Given the description of an element on the screen output the (x, y) to click on. 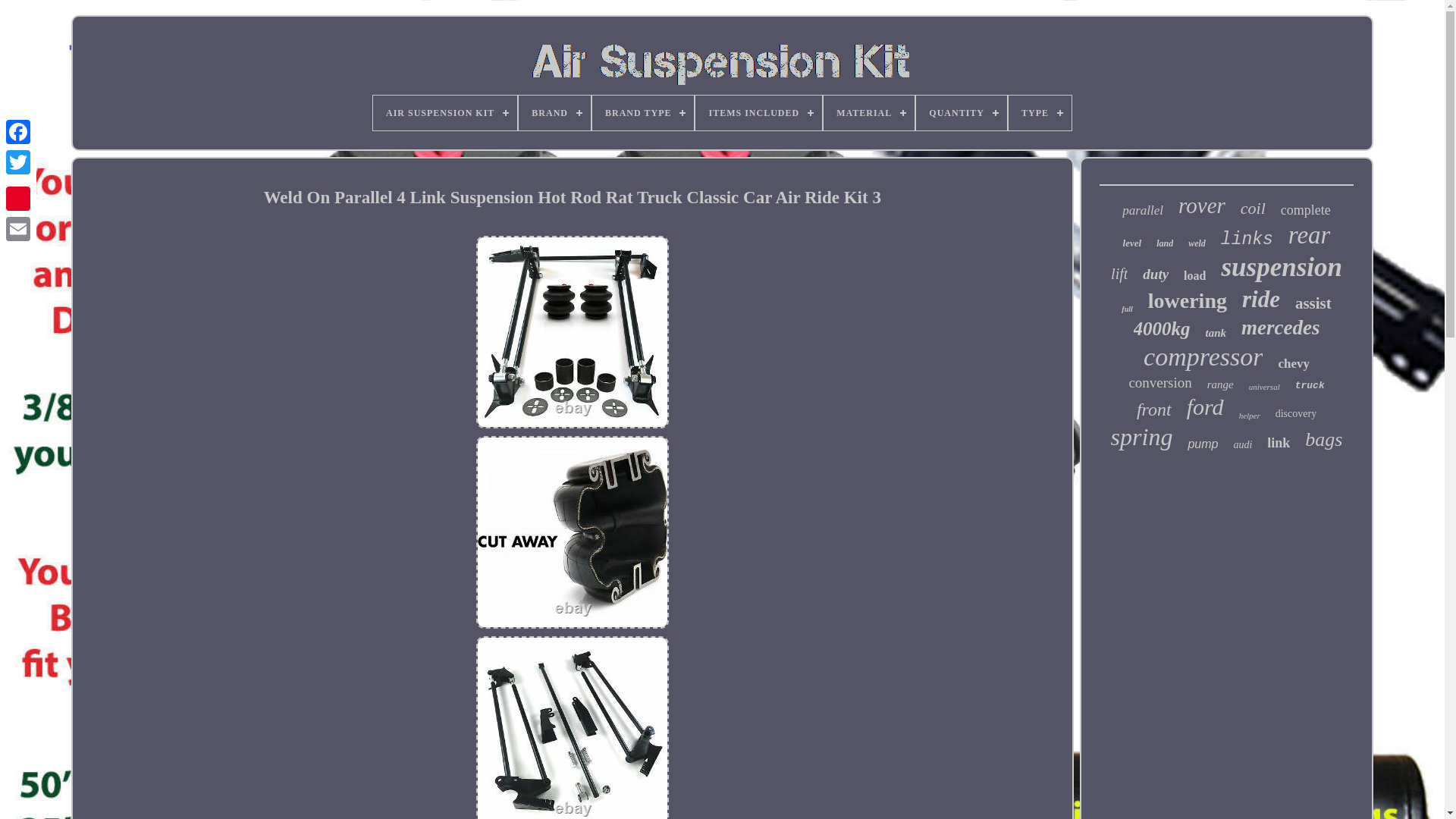
BRAND (554, 112)
BRAND TYPE (643, 112)
ITEMS INCLUDED (758, 112)
AIR SUSPENSION KIT (444, 112)
